Given the description of an element on the screen output the (x, y) to click on. 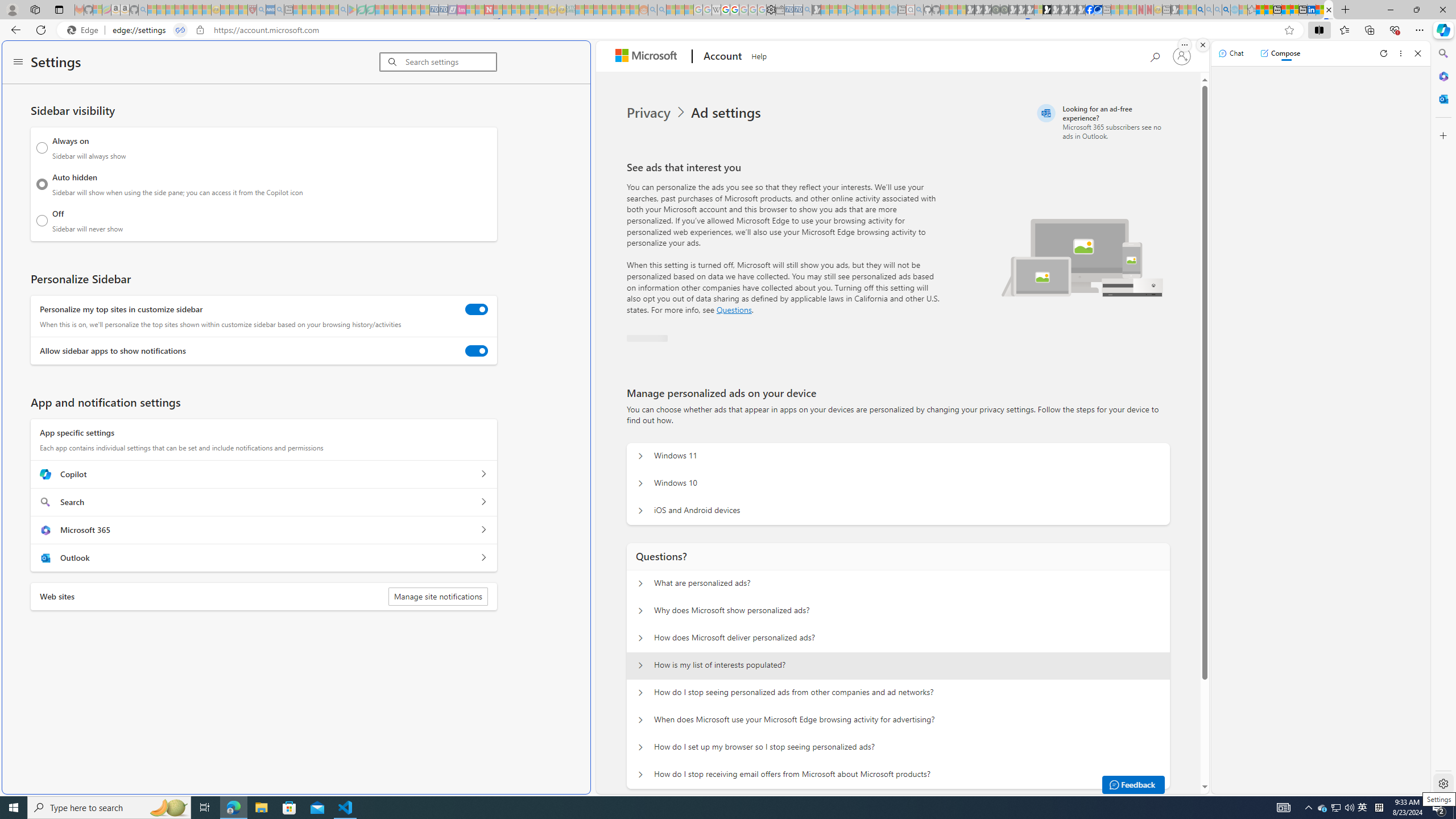
MSNBC - MSN - Sleeping (579, 9)
Pets - MSN - Sleeping (324, 9)
Terms of Use Agreement - Sleeping (361, 9)
Questions? How is my list of interests populated? (640, 665)
Microsoft Start Gaming - Sleeping (815, 9)
Questions? How does Microsoft deliver personalized ads? (640, 638)
